Given the description of an element on the screen output the (x, y) to click on. 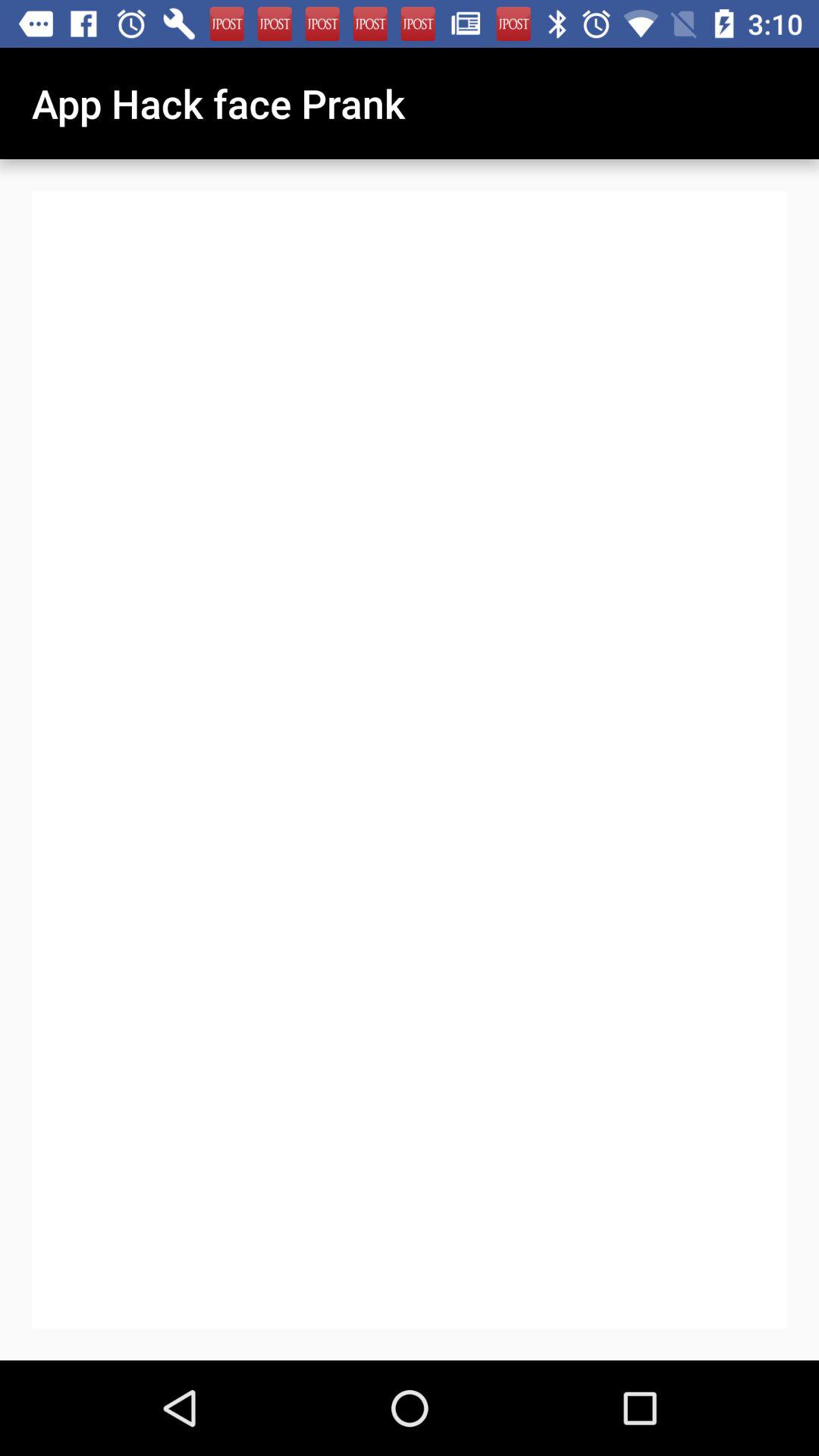
turn off app below the app hack face (409, 759)
